Given the description of an element on the screen output the (x, y) to click on. 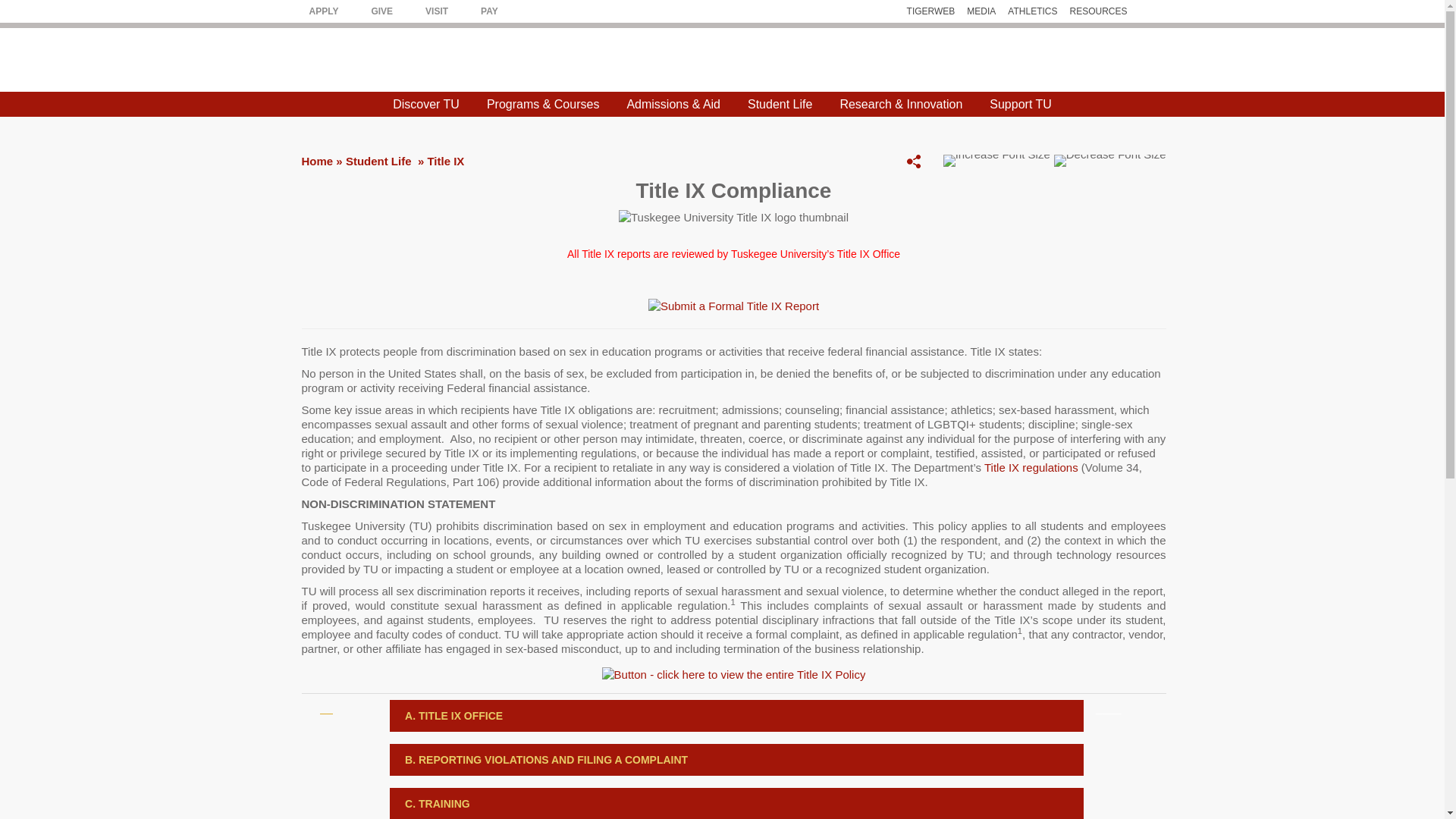
APPLY (323, 10)
RESOURCES (1097, 10)
Tuskegee University (721, 59)
TIGERWEB (931, 10)
MEDIA (980, 10)
GIVE (382, 10)
PAY (488, 10)
VISIT (436, 10)
ATHLETICS (1032, 10)
